Given the description of an element on the screen output the (x, y) to click on. 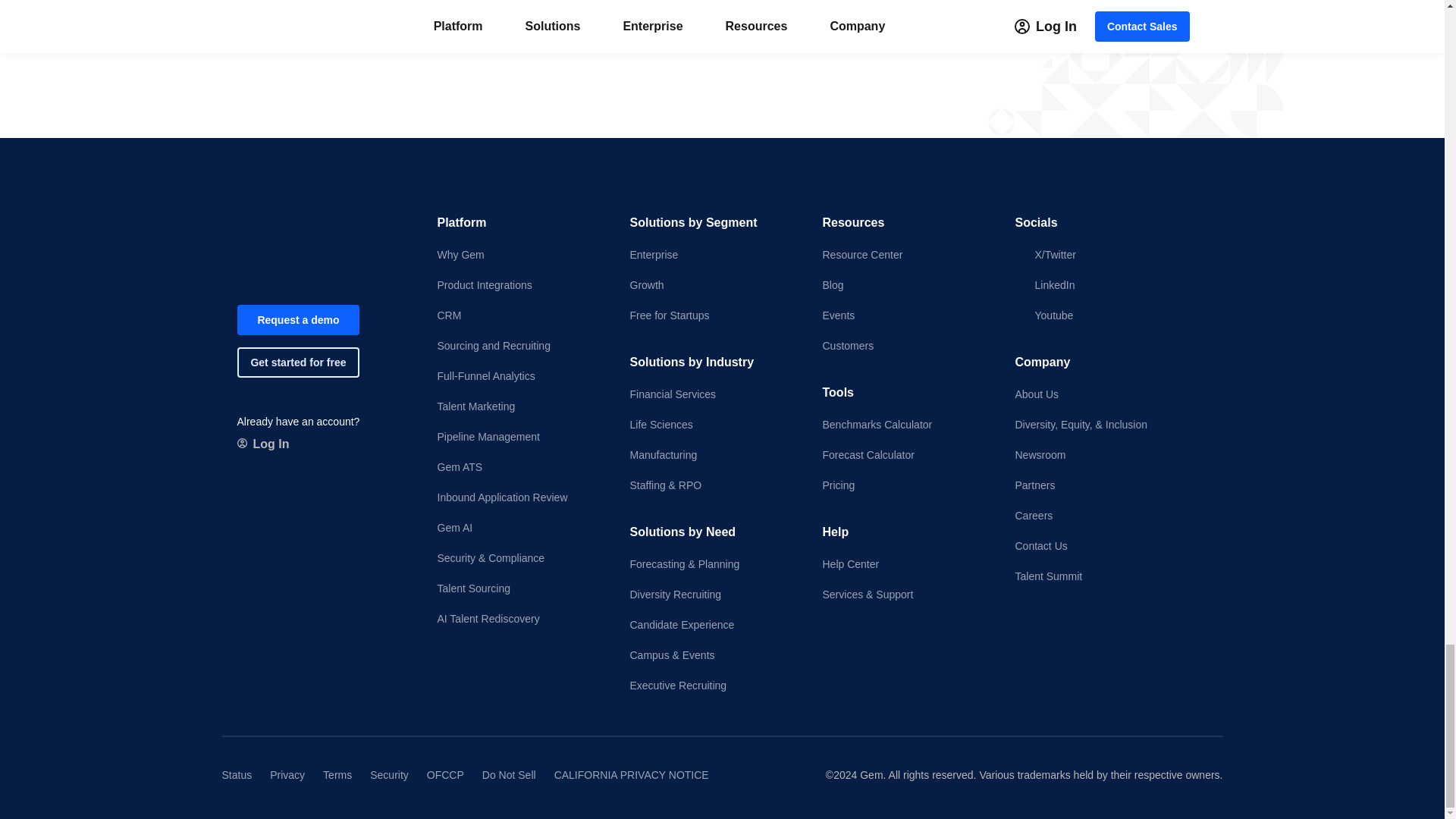
Product Integrations (520, 284)
Why Gem (520, 254)
Request a demo (297, 319)
Get started for free (297, 362)
Log In (261, 444)
